Given the description of an element on the screen output the (x, y) to click on. 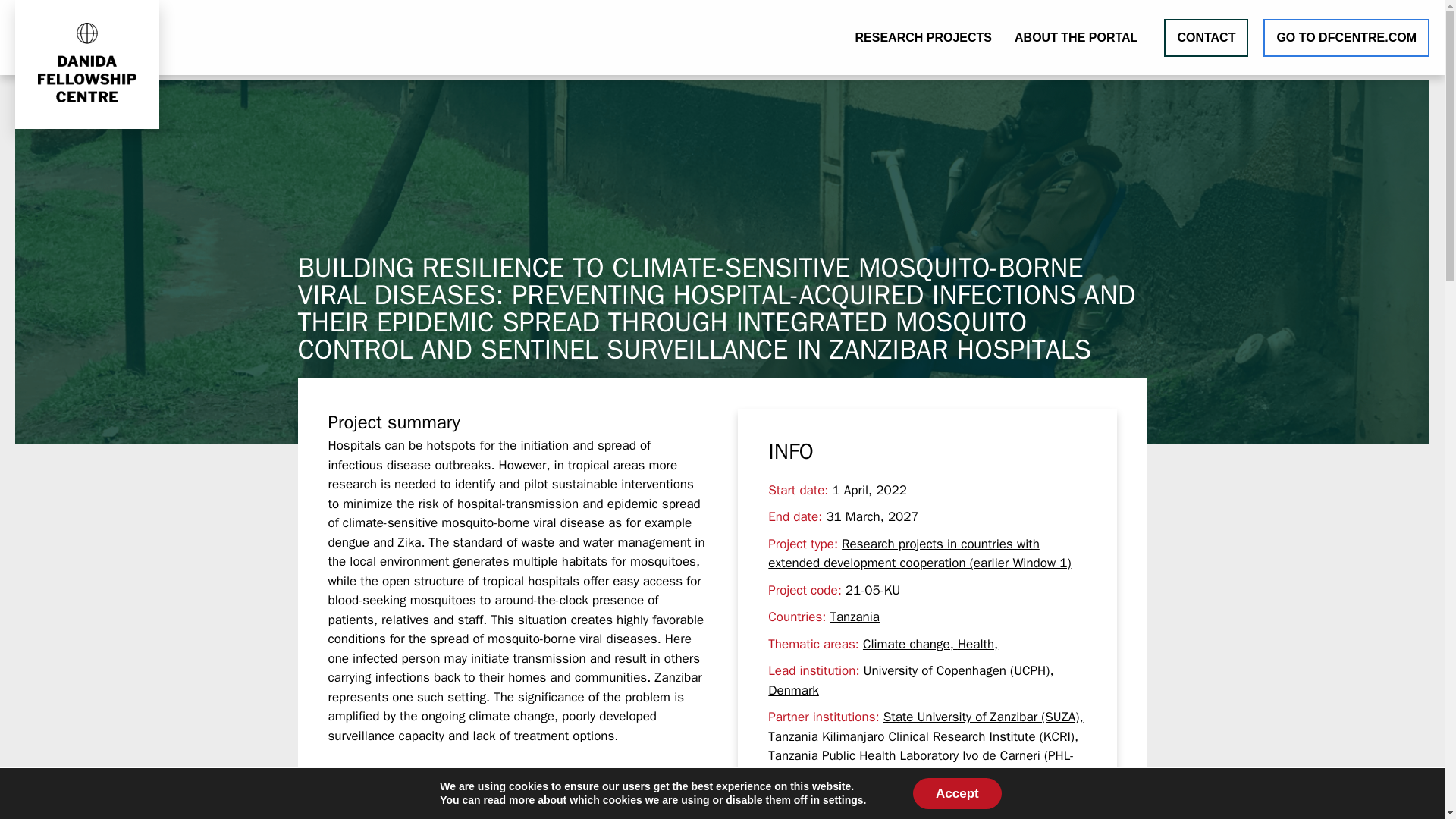
Tanzania (854, 616)
Health, (977, 643)
Climate change, (910, 643)
GO TO DFCENTRE.COM (1346, 36)
RESEARCH PROJECTS (923, 36)
ABOUT THE PORTAL (1075, 36)
CONTACT (1206, 36)
Mnazi Mmoja Hospital, Tanzania (944, 774)
